Given the description of an element on the screen output the (x, y) to click on. 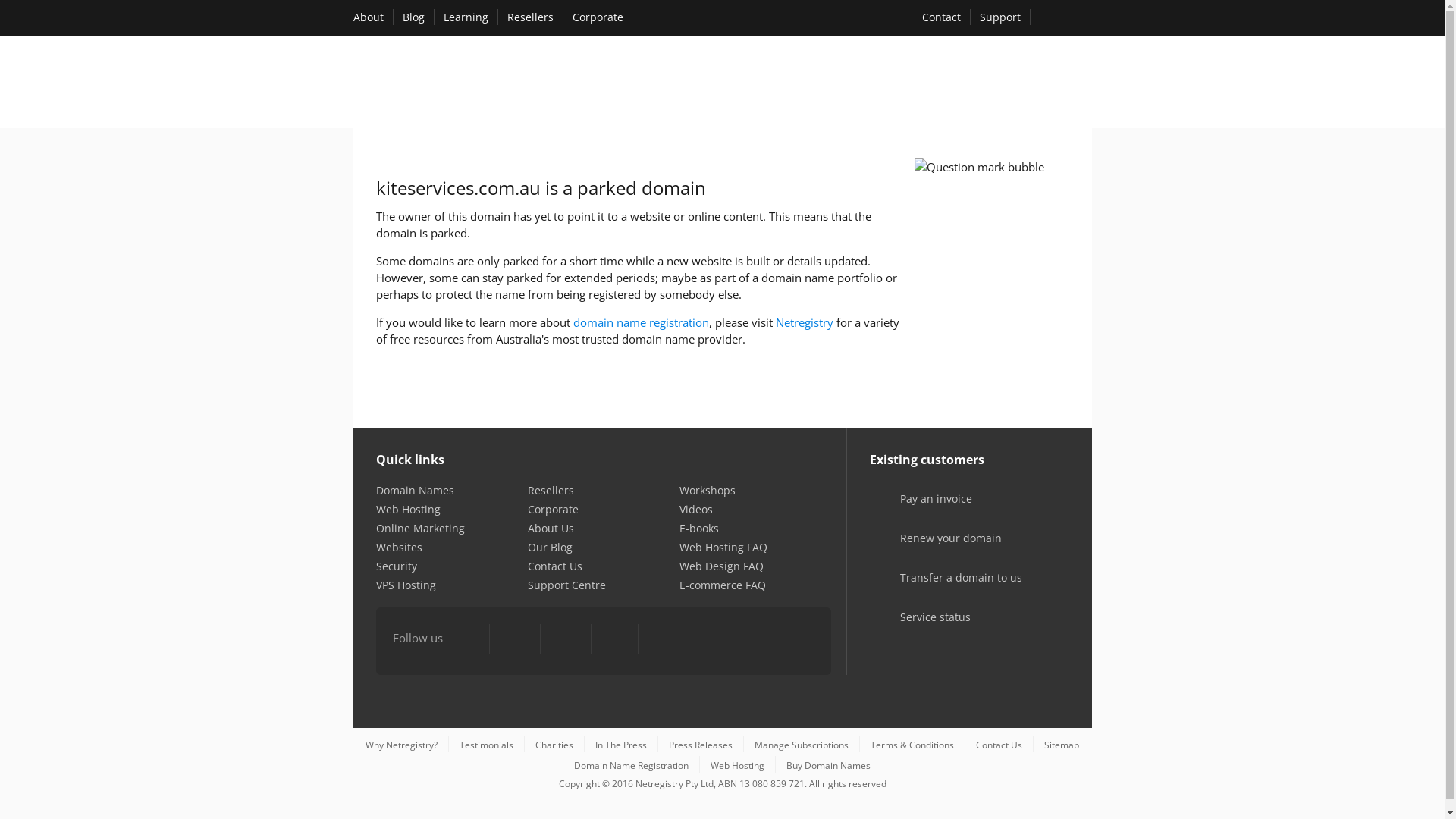
Our Blog Element type: text (549, 546)
Web Design FAQ Element type: text (721, 565)
Web Hosting FAQ Element type: text (723, 546)
Websites Element type: text (399, 546)
YouTube Element type: text (564, 639)
Twitter Element type: text (514, 639)
Get your website Element type: text (904, 85)
Contact Element type: text (941, 16)
VPS Hosting Element type: text (406, 584)
Sitemap Element type: text (1061, 744)
Why Netregistry? Element type: text (401, 744)
Charities Element type: text (554, 744)
Videos Element type: text (695, 509)
Pinterest Element type: text (614, 639)
Press Releases Element type: text (700, 744)
Renew your domain Element type: text (931, 548)
Facebook Element type: text (467, 639)
Support Centre Element type: text (566, 584)
domain name registration Element type: text (641, 321)
Corporate Element type: text (596, 16)
Online Marketing Element type: text (420, 527)
Support Element type: text (999, 16)
Transfer a domain to us Element type: text (941, 587)
Testimonials Element type: text (486, 744)
Contact Us Element type: text (998, 744)
Blog Element type: text (412, 16)
Buy Domain Names Element type: text (828, 765)
Resellers Element type: text (550, 490)
Login Element type: text (1064, 18)
Security Element type: text (396, 565)
In The Press Element type: text (620, 744)
Terms & Conditions Element type: text (911, 744)
Domain Name Registration Element type: text (631, 765)
E-books Element type: text (698, 527)
Pay an invoice Element type: text (916, 509)
Service status Element type: text (915, 627)
Corporate Element type: text (552, 509)
Contact Us Element type: text (554, 565)
E-commerce FAQ Element type: text (722, 584)
Netregistry Element type: text (803, 321)
About Element type: text (368, 16)
Workshops Element type: text (707, 490)
Grow your business Element type: text (1016, 85)
Learning Element type: text (464, 16)
Web Hosting Element type: text (408, 509)
Resellers Element type: text (529, 16)
Get your domain Element type: text (798, 85)
About Us Element type: text (550, 527)
Web Hosting Element type: text (737, 765)
Blog RSS Element type: text (662, 639)
Domain Names Element type: text (415, 490)
Manage Subscriptions Element type: text (801, 744)
